Given the description of an element on the screen output the (x, y) to click on. 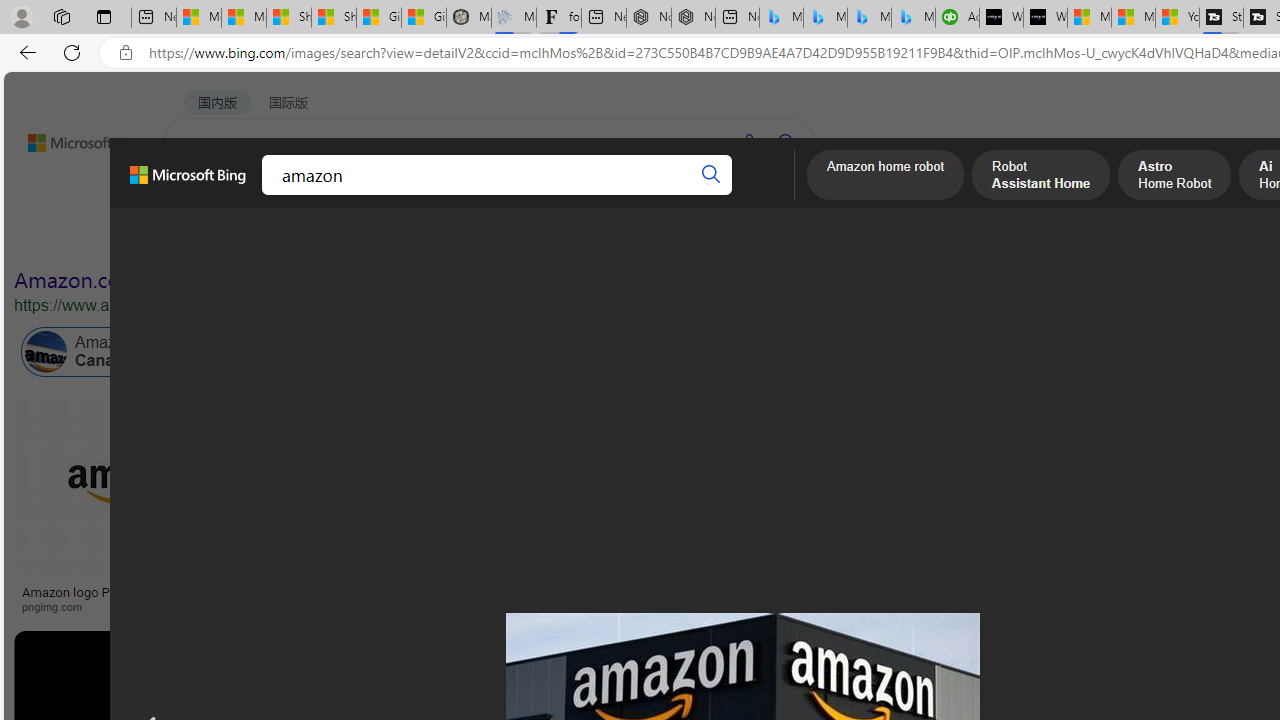
Image result for amazon (982, 485)
Type (372, 237)
Nordace - #1 Japanese Best-Seller - Siena Smart Backpack (693, 17)
Microsoft Bing, Back to Bing search (188, 183)
Accounting Software for Accountants, CPAs and Bookkeepers (957, 17)
MORE (779, 195)
Amazon Logo Png Hd Wallpaper | Images and Photos finder (982, 598)
Search using voice (748, 142)
Amazon India (893, 351)
mytotalretail.com (396, 606)
MAPS (698, 195)
Image result for amazon (923, 675)
Kindle Paperwhite Case (1183, 524)
